Given the description of an element on the screen output the (x, y) to click on. 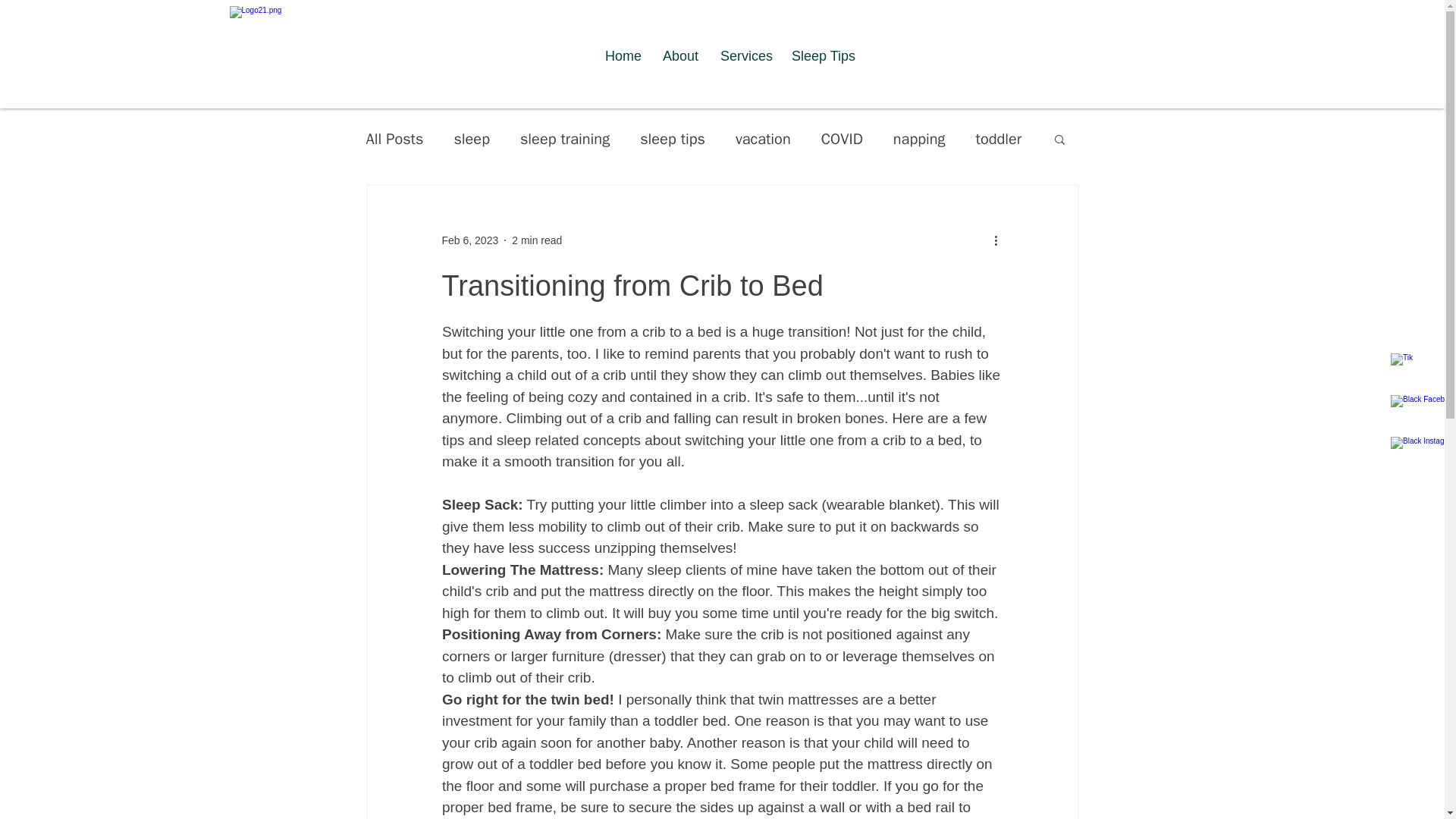
COVID (842, 138)
All Posts (394, 138)
Home (622, 55)
Services (744, 55)
2 min read (537, 239)
vacation (762, 138)
Feb 6, 2023 (469, 239)
About (679, 55)
sleep (470, 138)
toddler (998, 138)
